Given the description of an element on the screen output the (x, y) to click on. 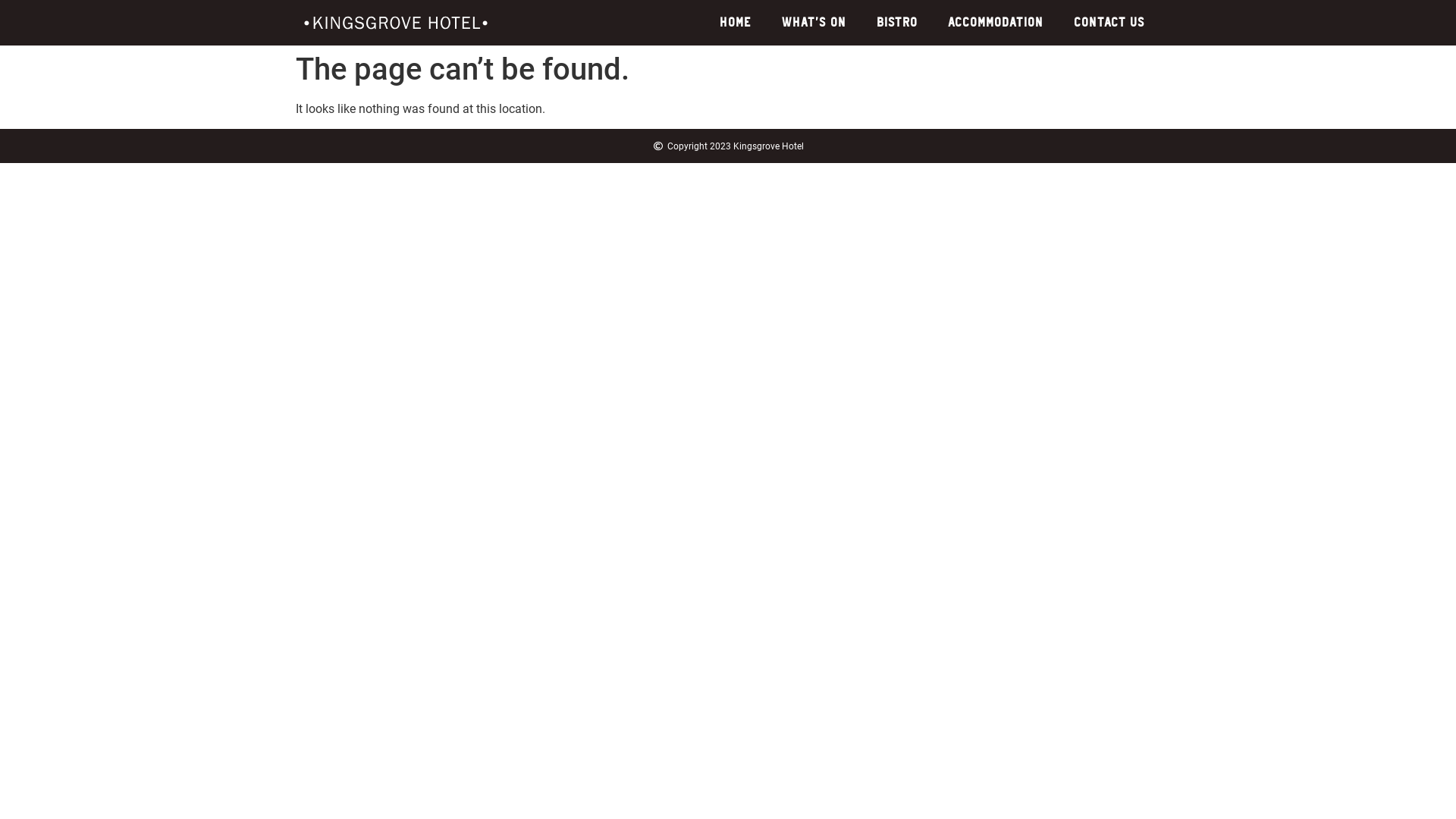
BISTRO Element type: text (896, 22)
ACCOMMODATION Element type: text (995, 22)
HOME Element type: text (735, 22)
CONTACT US Element type: text (1109, 22)
